Given the description of an element on the screen output the (x, y) to click on. 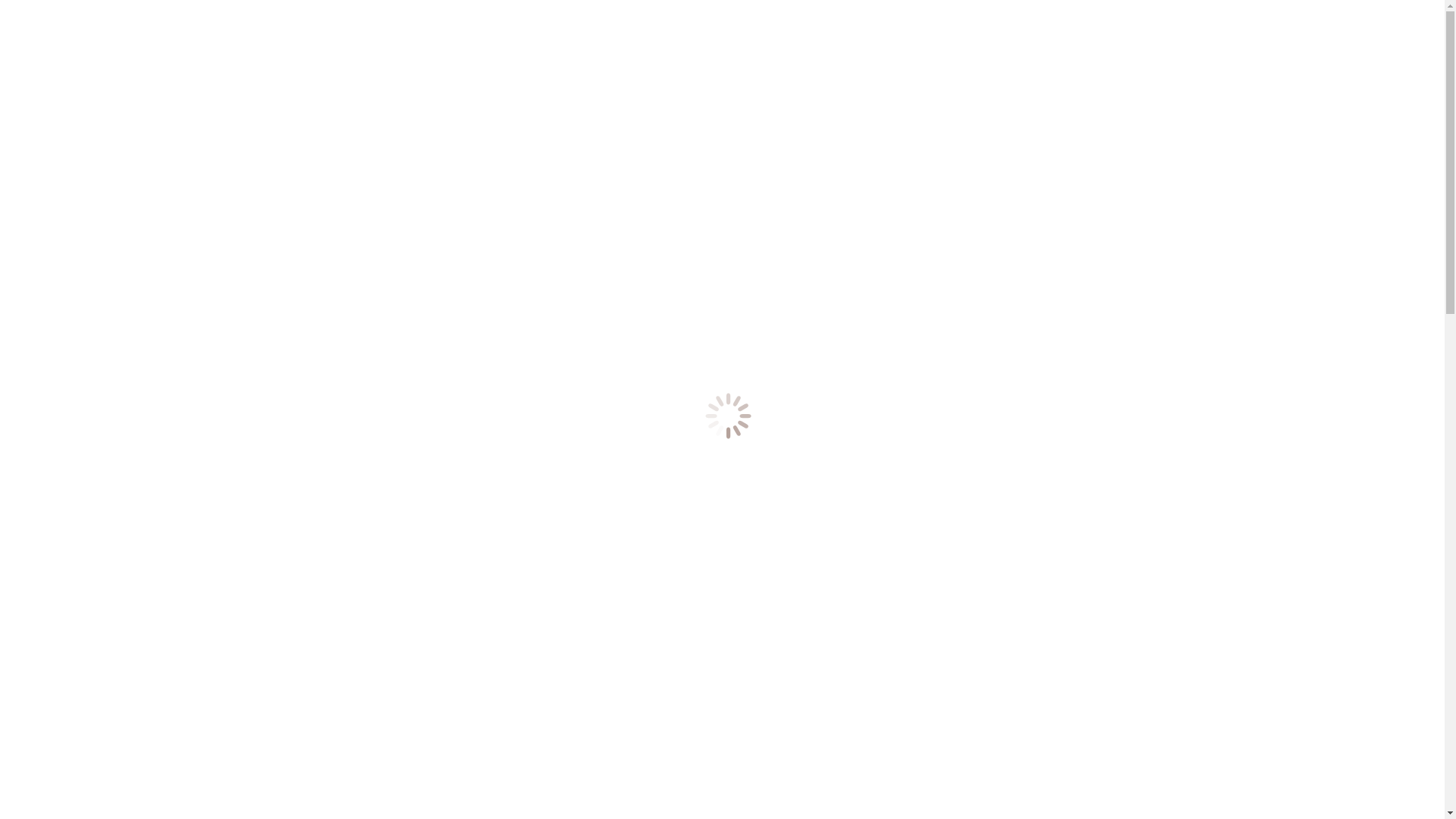
 0 Element type: text (10, 200)
8-029-862-64-33 Element type: text (52, 146)
